Given the description of an element on the screen output the (x, y) to click on. 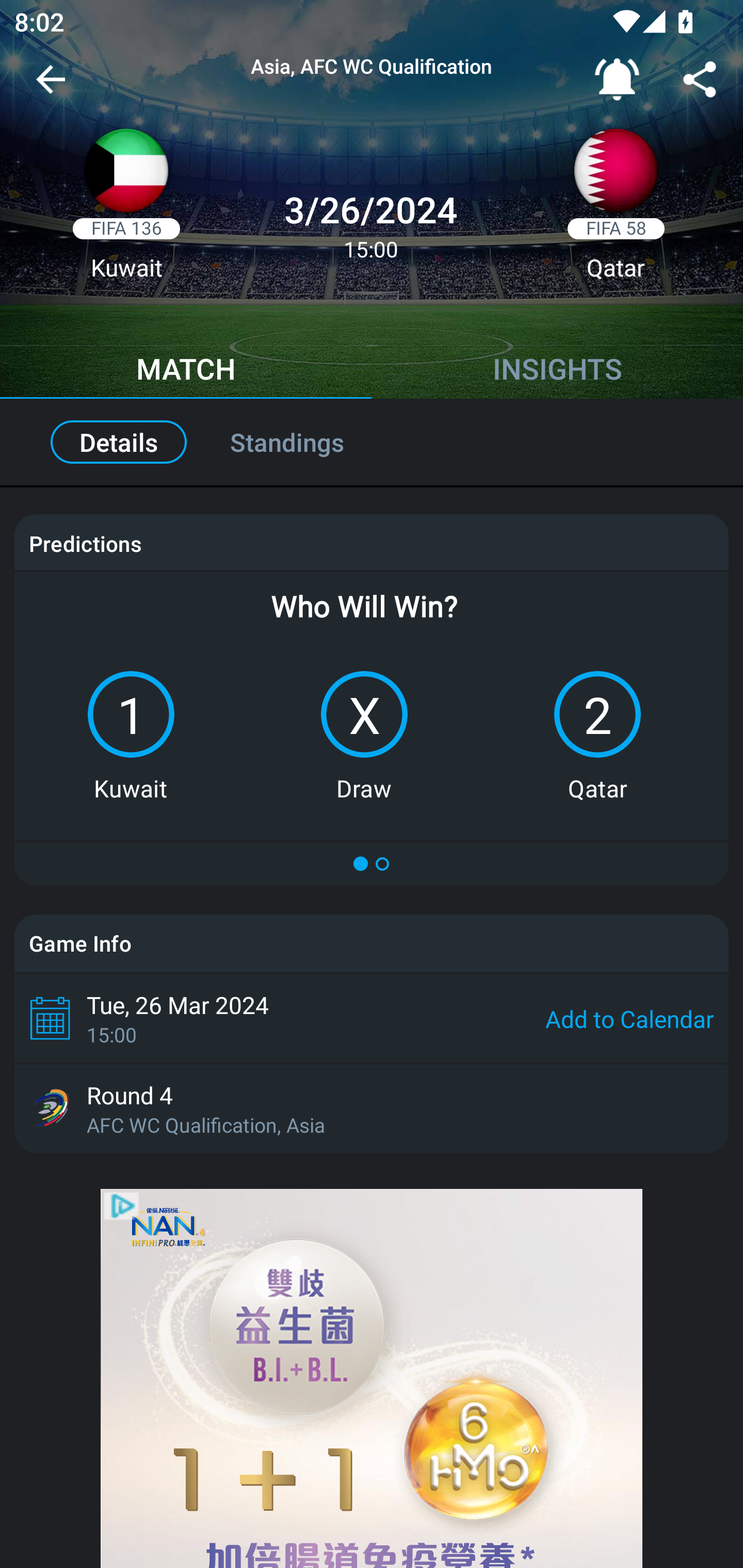
Navigate up (50, 86)
Asia, AFC WC Qualification (371, 66)
Share (699, 82)
FIFA 136 Kuwait (126, 210)
FIFA 58 Qatar (616, 210)
MATCH (185, 371)
INSIGHTS (557, 371)
Standings (308, 442)
Predictions (85, 544)
1 (130, 714)
X (363, 714)
2 (597, 714)
Game Info (371, 943)
Tue, 26 Mar 2024 15:00 Add to Calendar (371, 1018)
Round 4 AFC WC Qualification, Asia (371, 1108)
